Given the description of an element on the screen output the (x, y) to click on. 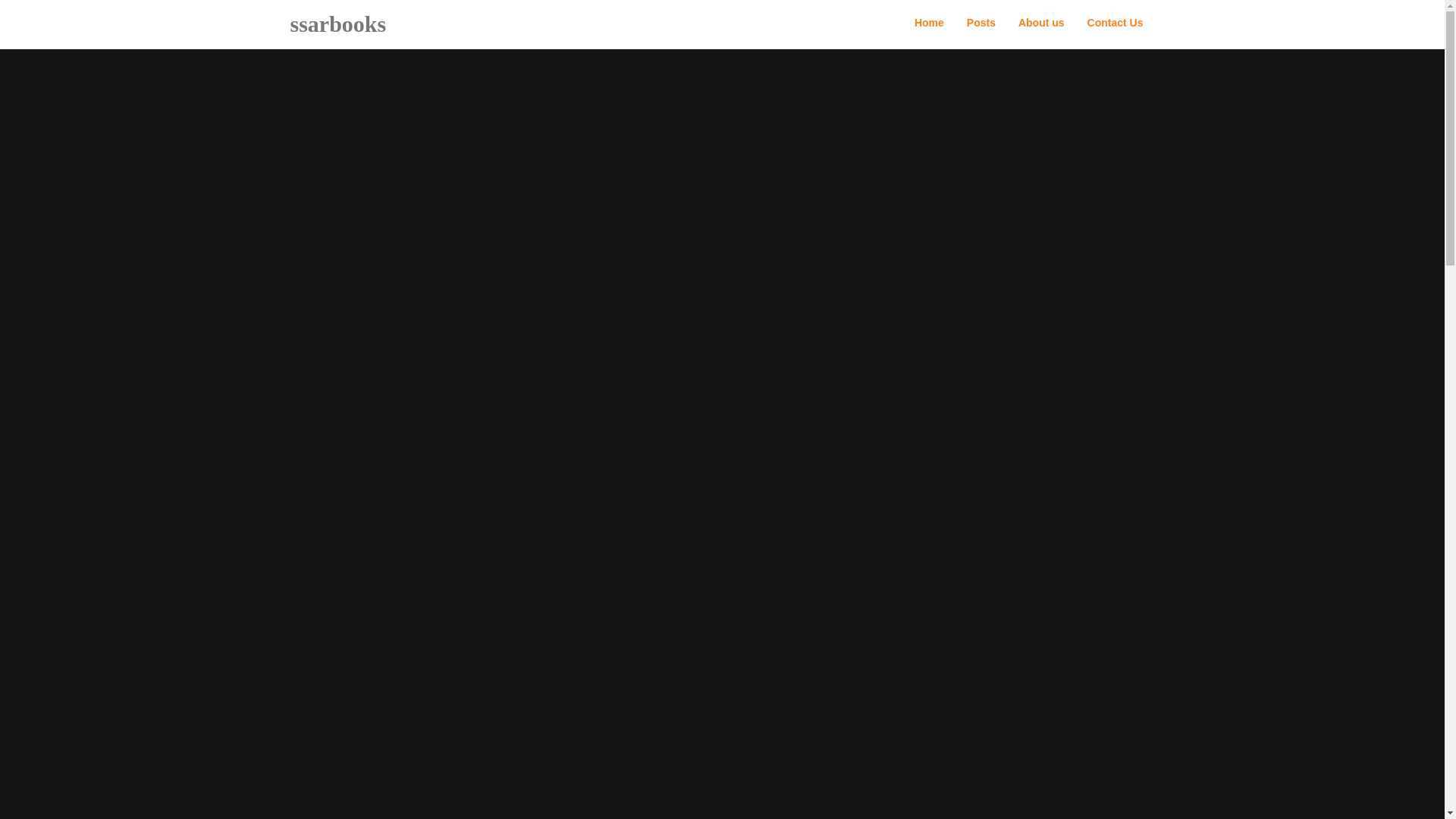
About us (1041, 22)
Contact Us (1114, 22)
ssarbooks (338, 24)
Home (928, 22)
Posts (981, 22)
